Given the description of an element on the screen output the (x, y) to click on. 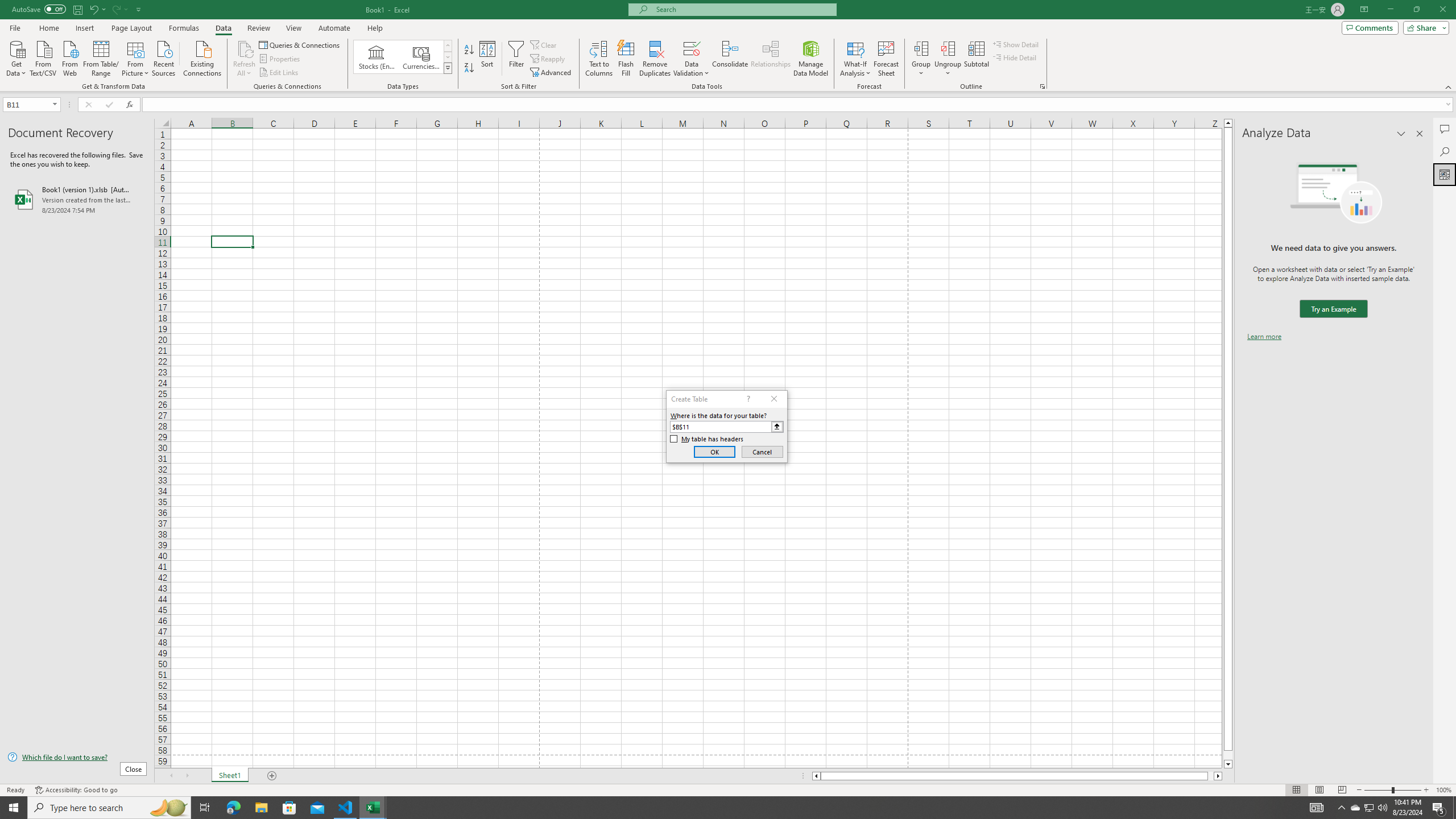
From Table/Range (100, 57)
From Text/CSV (43, 57)
Subtotal (976, 58)
Hide Detail (1014, 56)
Queries & Connections (300, 44)
From Web (69, 57)
Get Data (16, 57)
Sort... (487, 58)
